Given the description of an element on the screen output the (x, y) to click on. 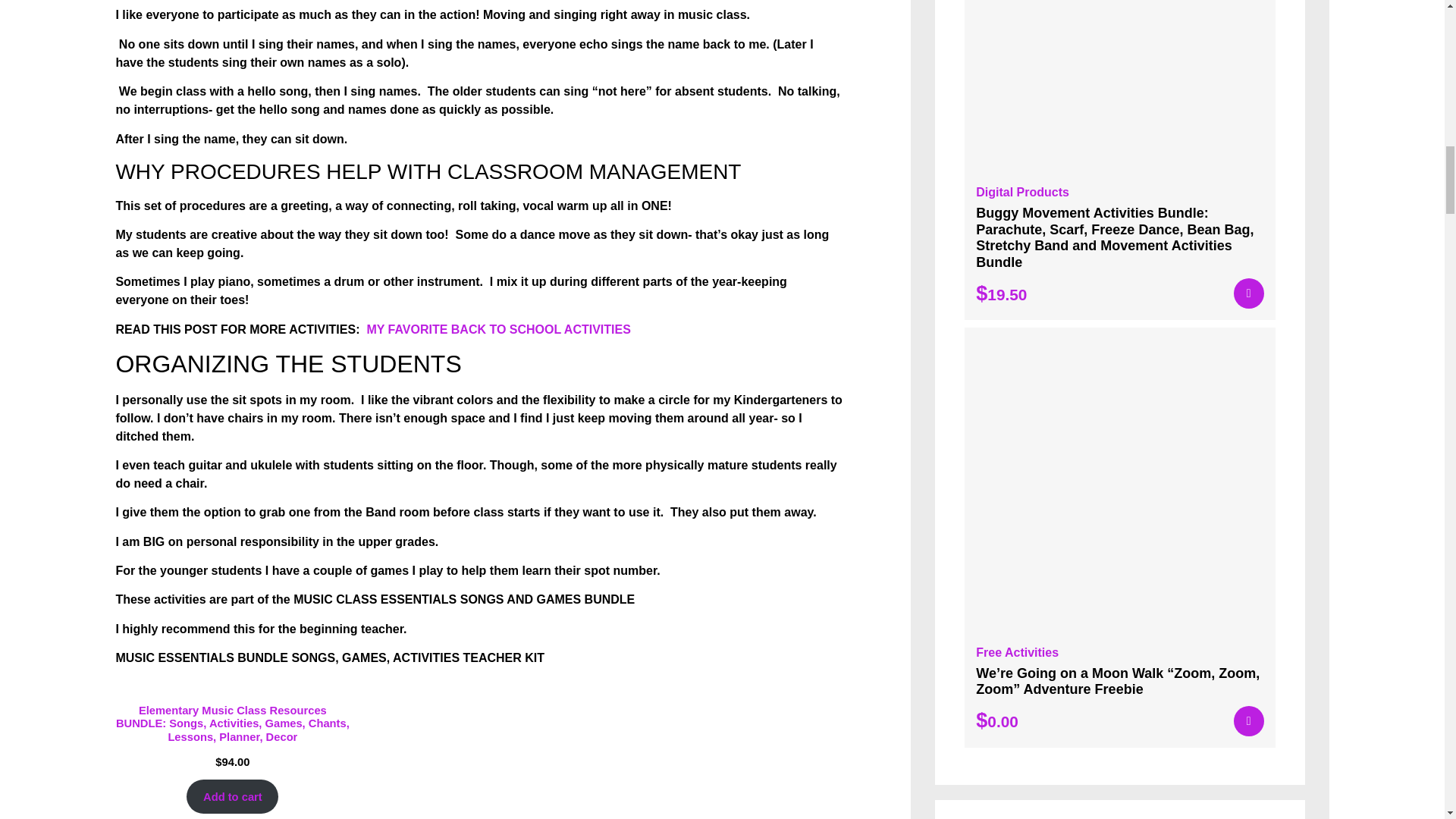
Add to cart (232, 796)
MY FAVORITE BACK TO SCHOOL ACTIVITIES (498, 328)
